Given the description of an element on the screen output the (x, y) to click on. 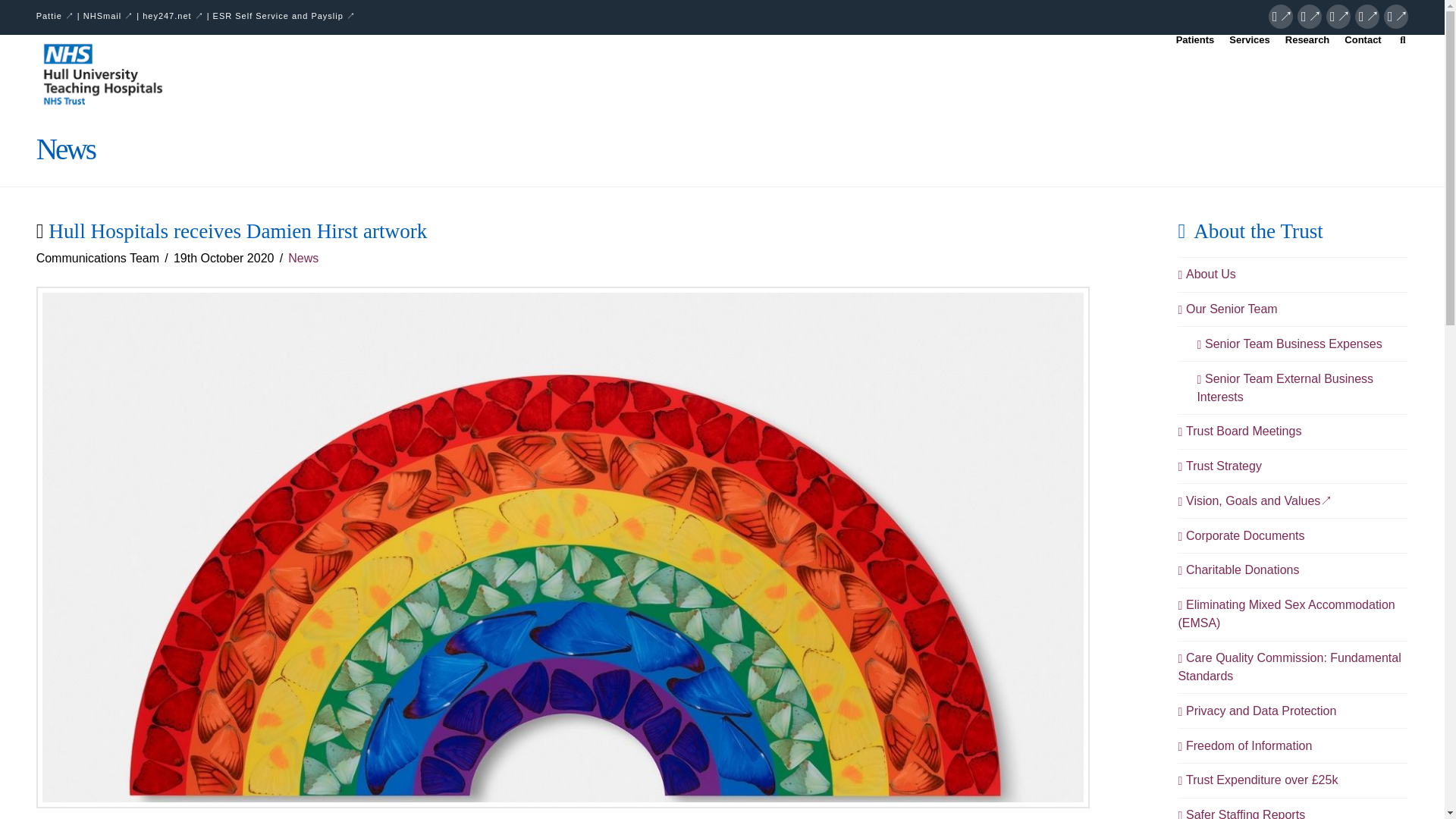
Senior Team External Business Interests (1301, 388)
Corporate Documents (1240, 536)
Care Quality Commission: Fundamental Standards (1292, 667)
NHSmail (107, 15)
News (303, 257)
Facebook (1280, 16)
LinkedIn (1338, 16)
Safer Staffing Reports (1240, 812)
Trust Strategy (1219, 466)
Freedom of Information (1244, 746)
